Given the description of an element on the screen output the (x, y) to click on. 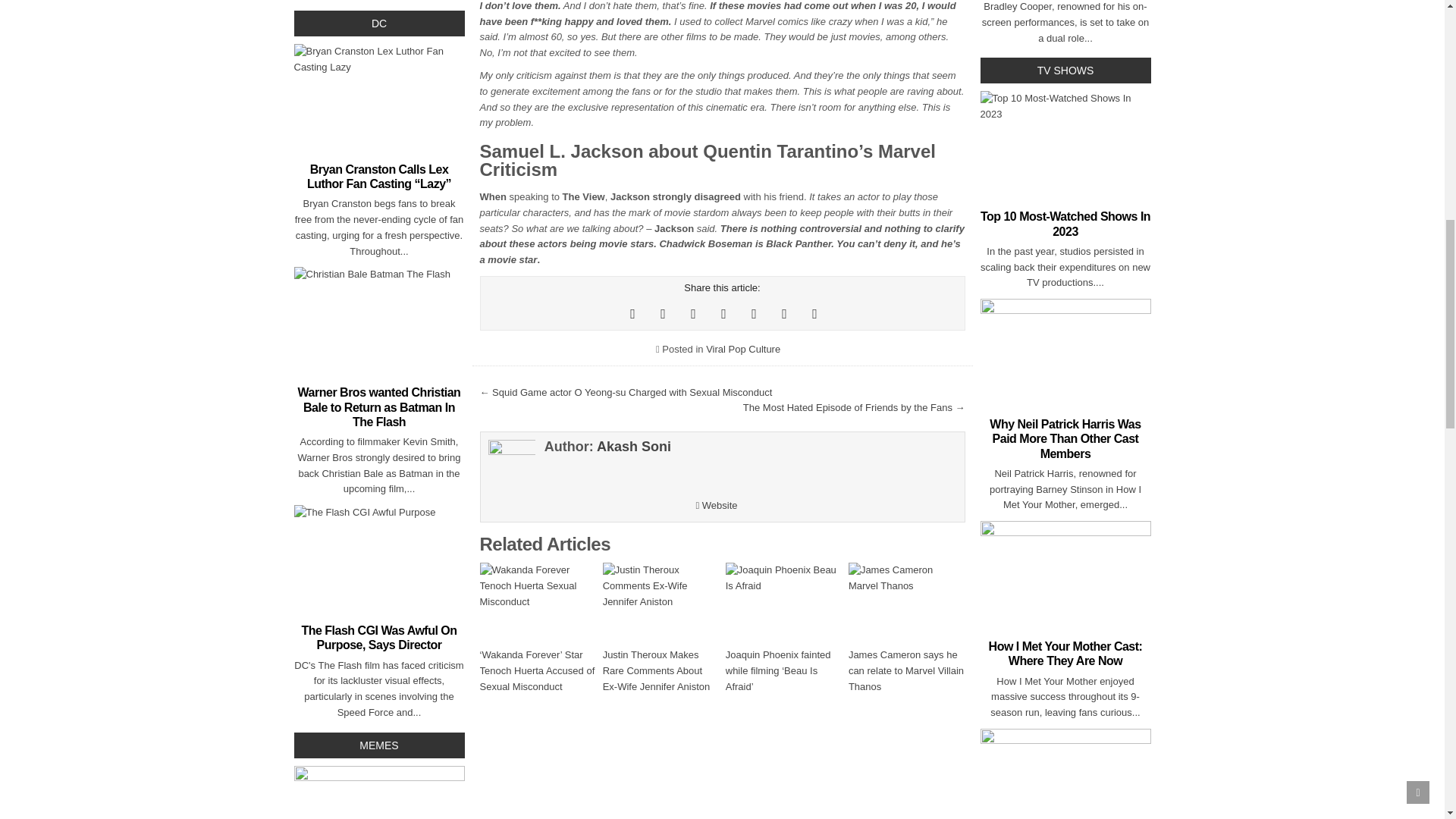
Share this on Digg (753, 313)
Akash Soni (633, 446)
Tweet This! (632, 313)
Share this on VK (814, 313)
Share this on Facebook (662, 313)
Share this on Pinterest (692, 313)
Share this on Linkedin (783, 313)
Viral Pop Culture (743, 348)
Website (715, 505)
